Given the description of an element on the screen output the (x, y) to click on. 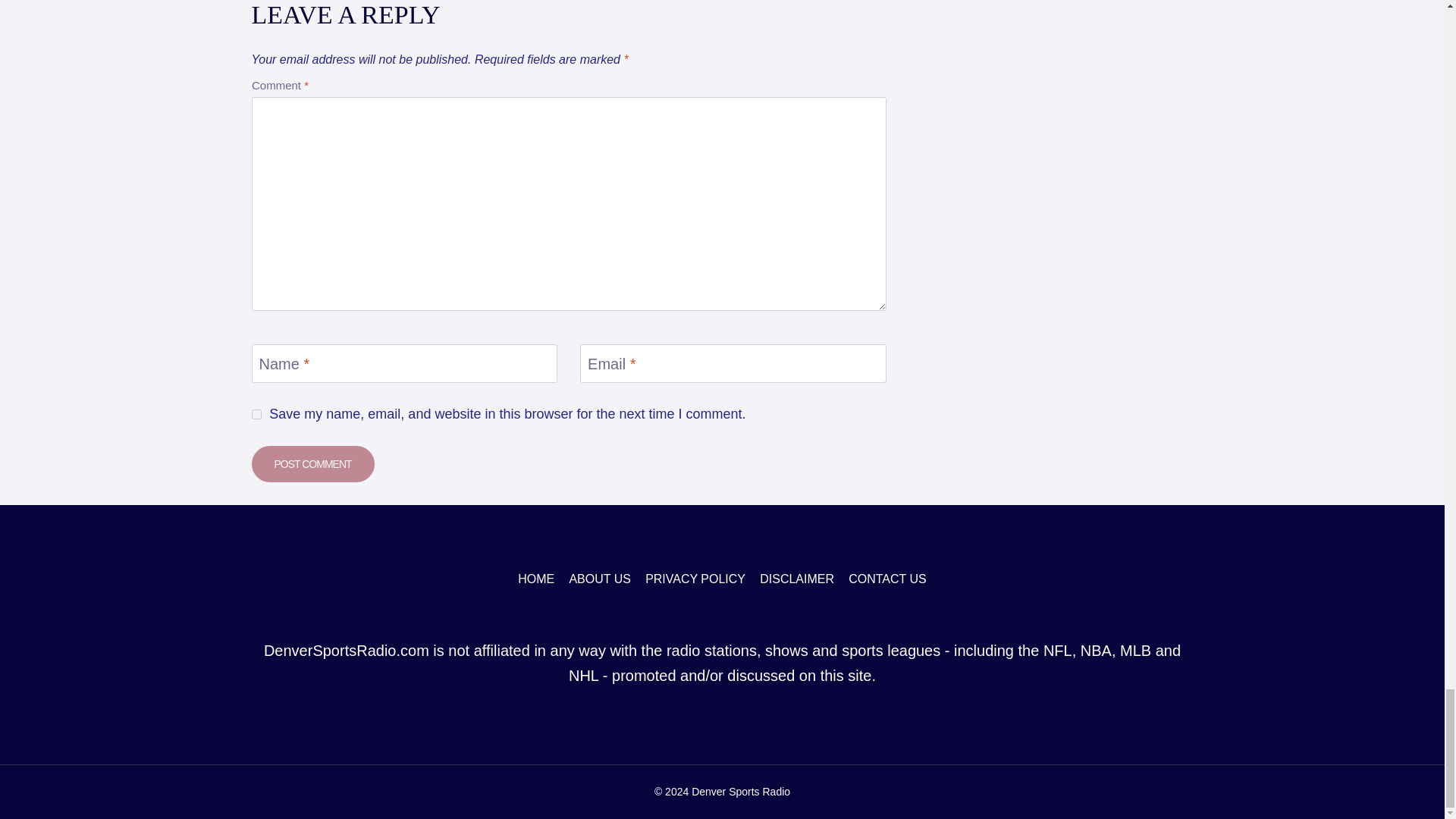
Post Comment (312, 463)
Post Comment (312, 463)
yes (256, 414)
